Given the description of an element on the screen output the (x, y) to click on. 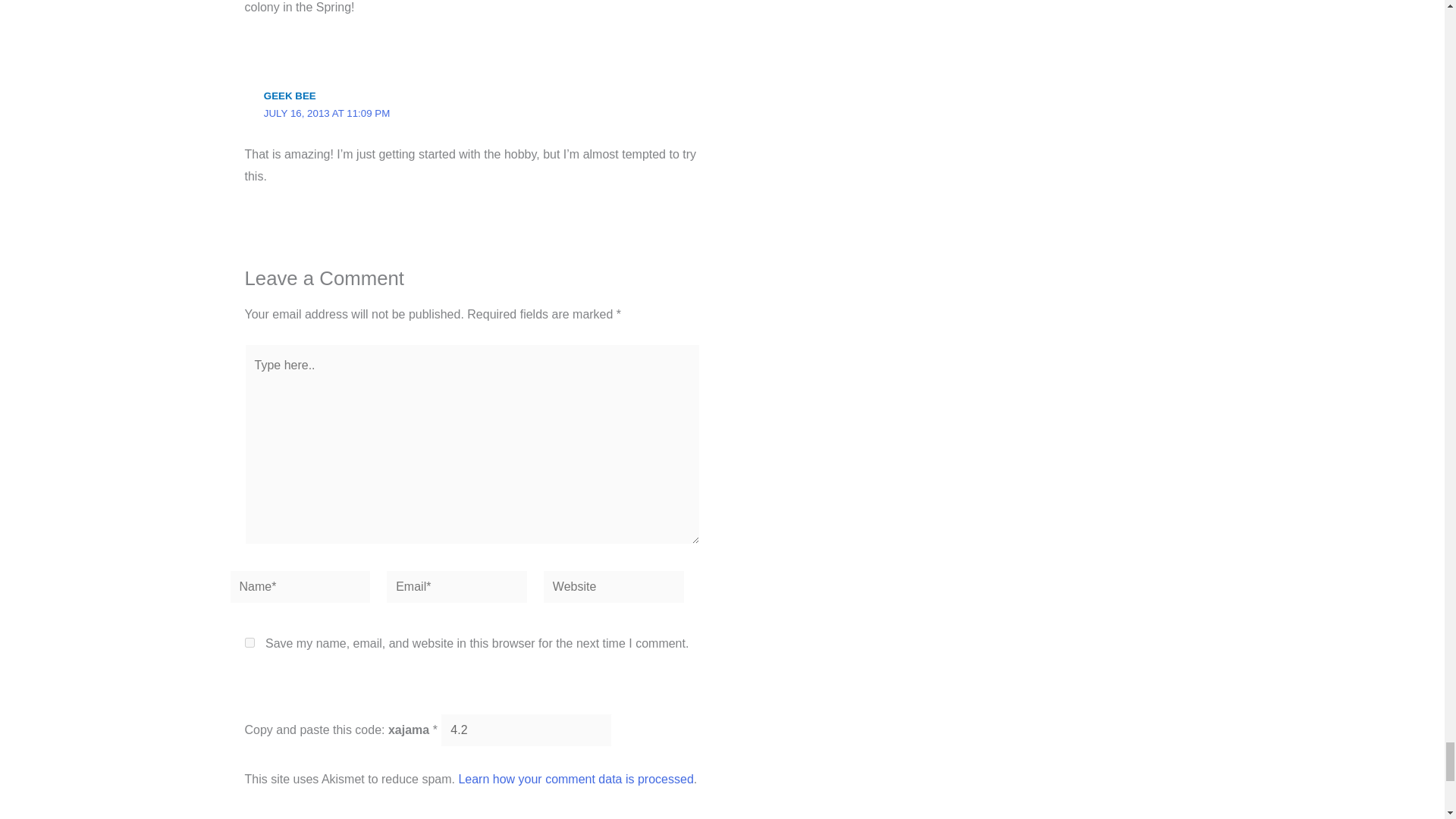
4.2 (526, 729)
yes (248, 642)
